Given the description of an element on the screen output the (x, y) to click on. 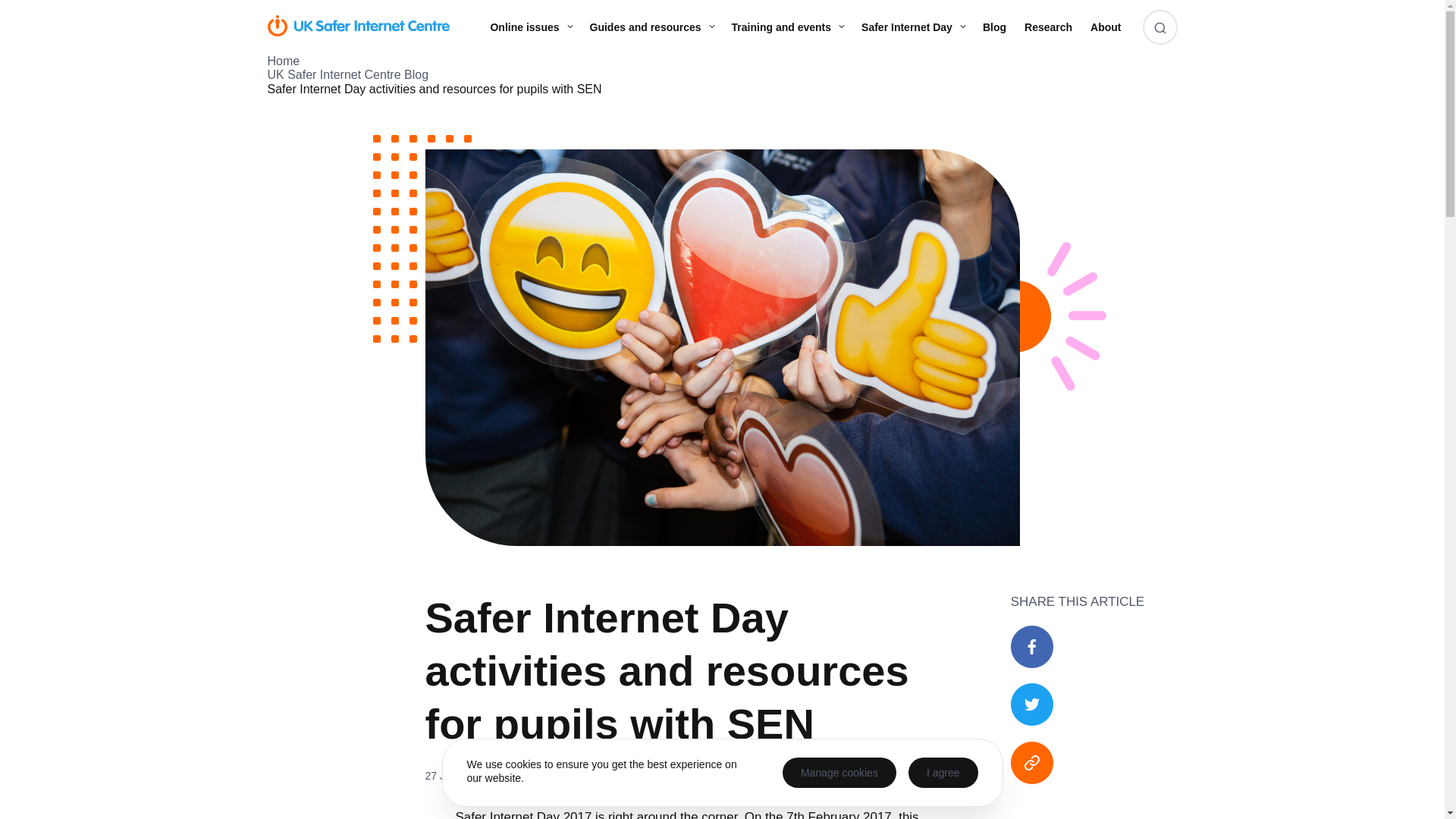
UK Safer Internet Centre (357, 25)
Online issues (529, 27)
I agree (943, 772)
Training and events (786, 27)
Safer Internet Day (912, 27)
Manage cookies (839, 772)
Guides and resources (651, 27)
